Given the description of an element on the screen output the (x, y) to click on. 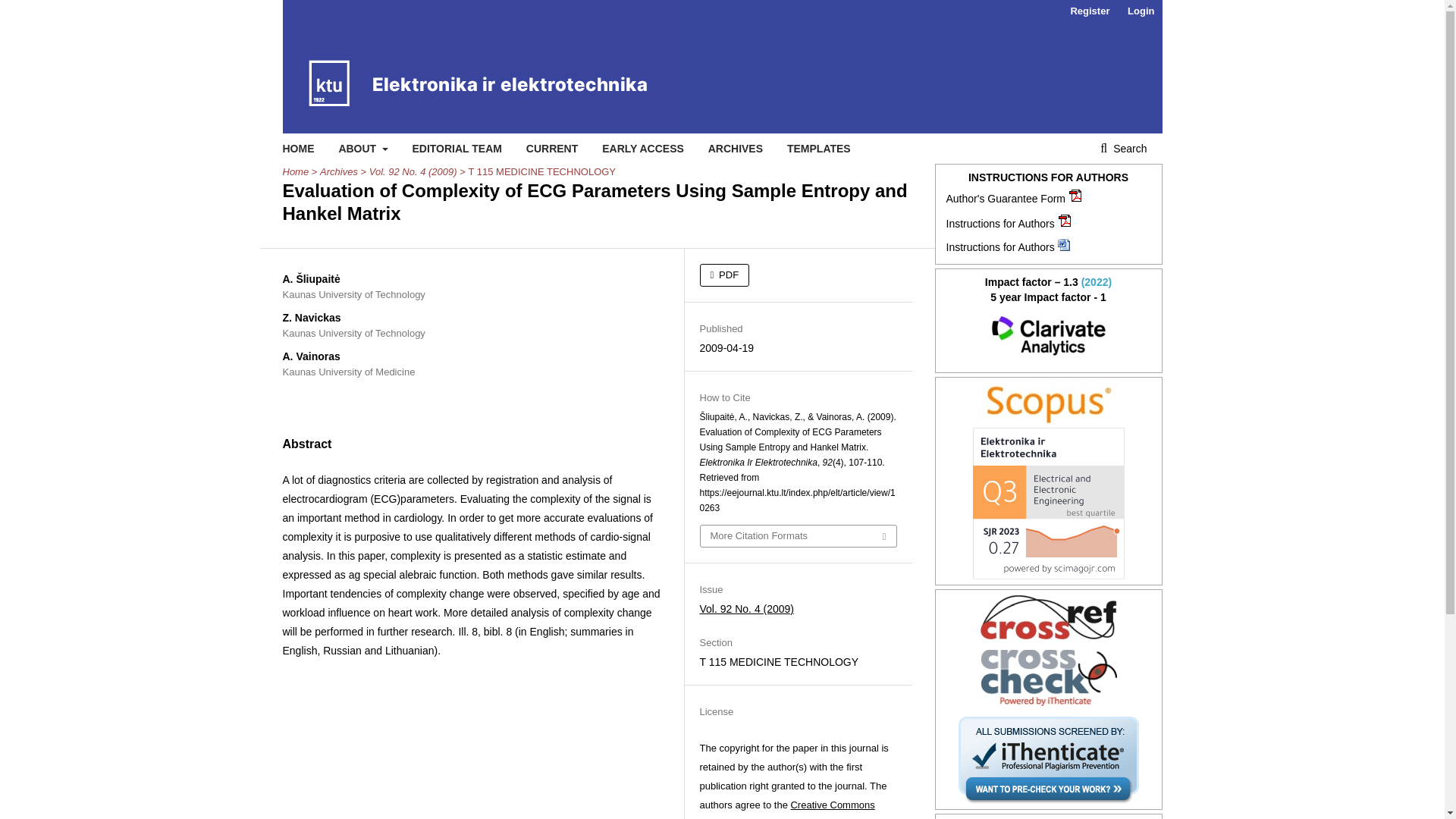
CURRENT (551, 148)
Archives (339, 171)
ABOUT (362, 148)
Journal: Elektronika Ir Elektrotechnika (1048, 335)
Home (295, 171)
ARCHIVES (734, 148)
Login (1140, 11)
EARLY ACCESS (643, 148)
More Citation Formats (798, 536)
Register (1089, 11)
